Given the description of an element on the screen output the (x, y) to click on. 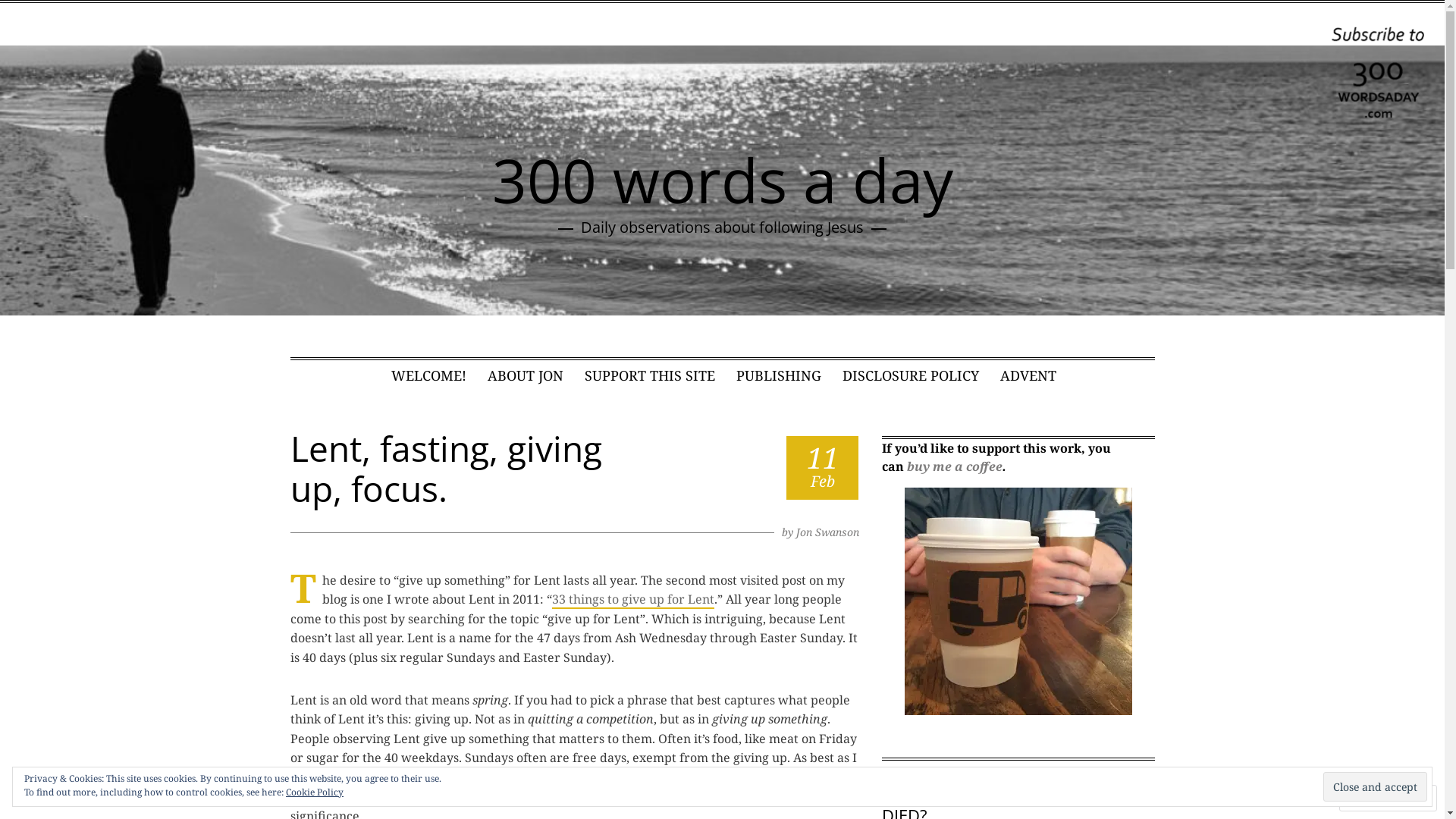
ABOUT JON Element type: text (525, 375)
300 words a day Element type: text (721, 179)
PUBLISHING Element type: text (778, 375)
Jon Swanson Element type: text (827, 531)
buy me a coffee Element type: text (954, 466)
Cookie Policy Element type: text (314, 791)
33 things to give up for Lent Element type: text (633, 599)
ADVENT Element type: text (1027, 375)
WELCOME! Element type: text (428, 375)
SUPPORT THIS SITE Element type: text (649, 375)
Follow Element type: text (1373, 797)
Close and accept Element type: text (1375, 786)
DISCLOSURE POLICY Element type: text (910, 375)
